Given the description of an element on the screen output the (x, y) to click on. 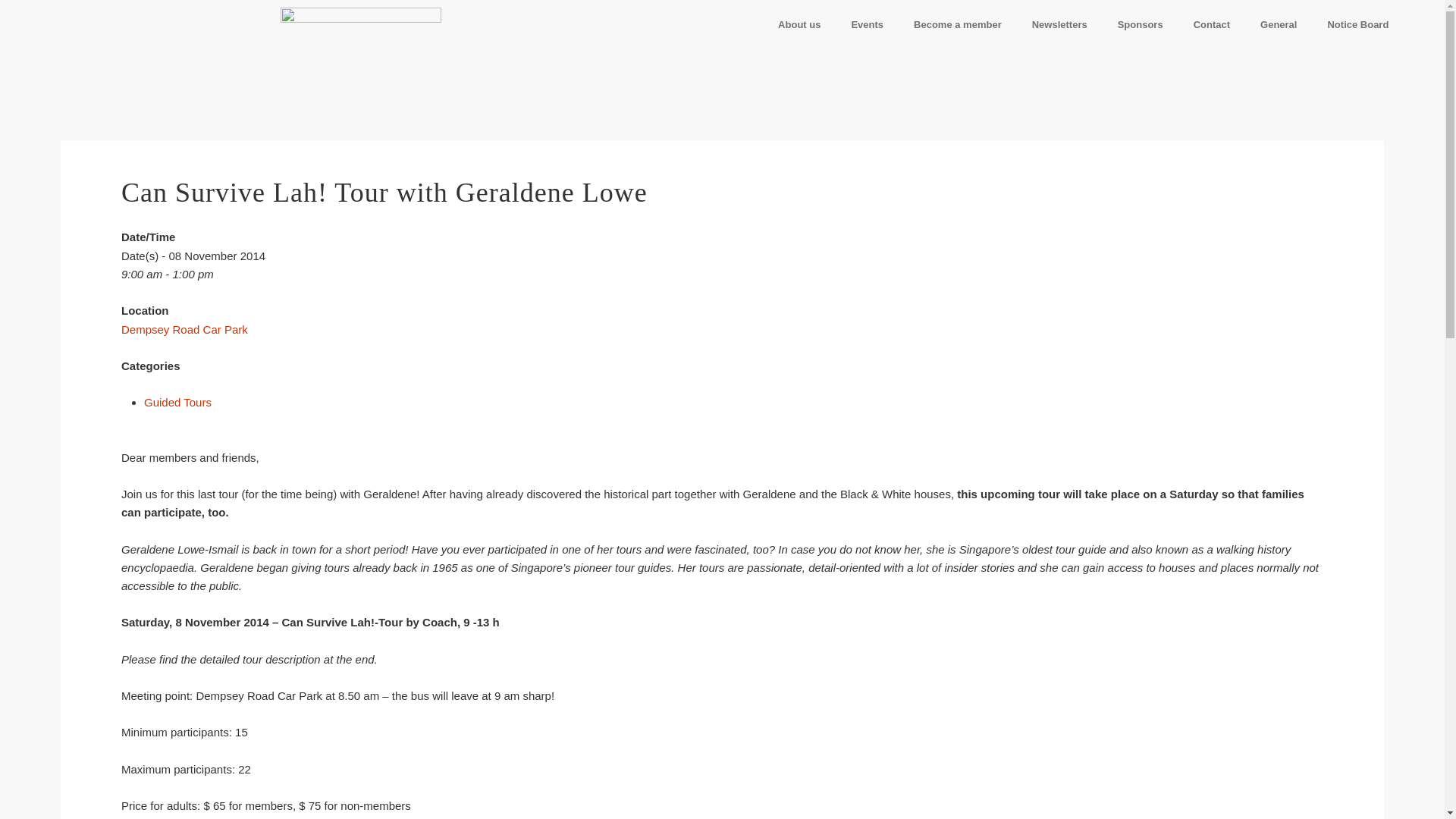
About us (798, 24)
Newsletters (1059, 24)
General (1277, 24)
Notice Board (1357, 24)
Contact (1210, 24)
Become a member (957, 24)
Events (866, 24)
Sponsors (1139, 24)
